Given the description of an element on the screen output the (x, y) to click on. 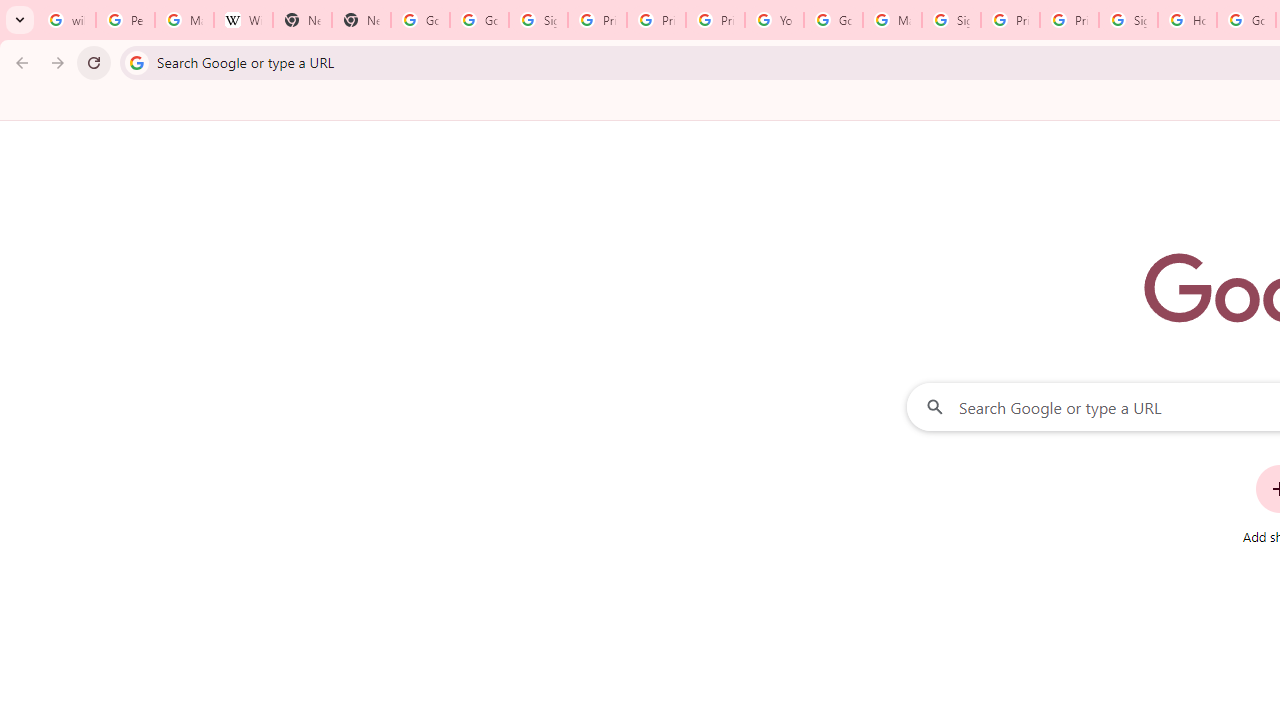
Manage your Location History - Google Search Help (183, 20)
New Tab (301, 20)
Sign in - Google Accounts (1128, 20)
Personalization & Google Search results - Google Search Help (125, 20)
New Tab (360, 20)
YouTube (774, 20)
Sign in - Google Accounts (538, 20)
